Given the description of an element on the screen output the (x, y) to click on. 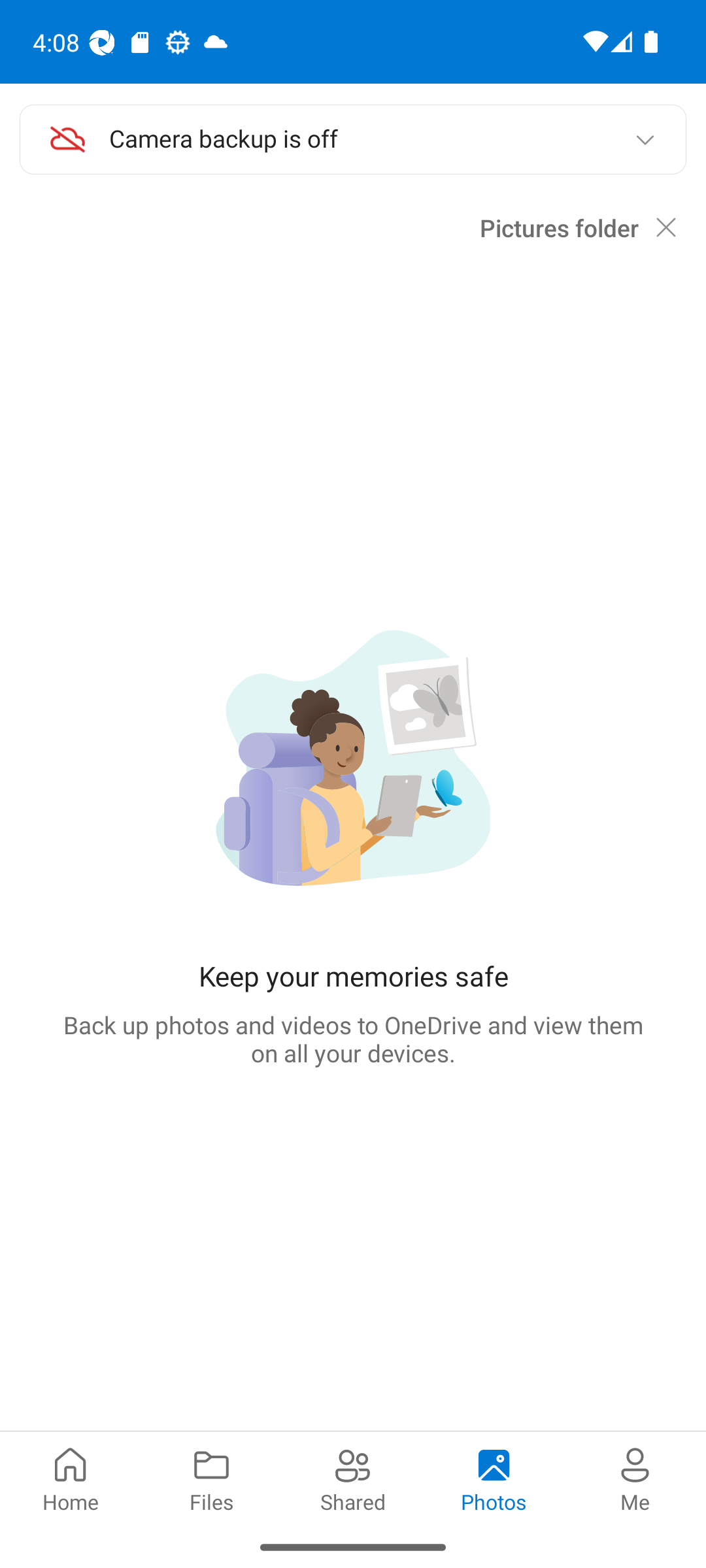
Expand camera status banner (645, 139)
Home pivot Home (70, 1478)
Files pivot Files (211, 1478)
Shared pivot Shared (352, 1478)
Me pivot Me (635, 1478)
